Given the description of an element on the screen output the (x, y) to click on. 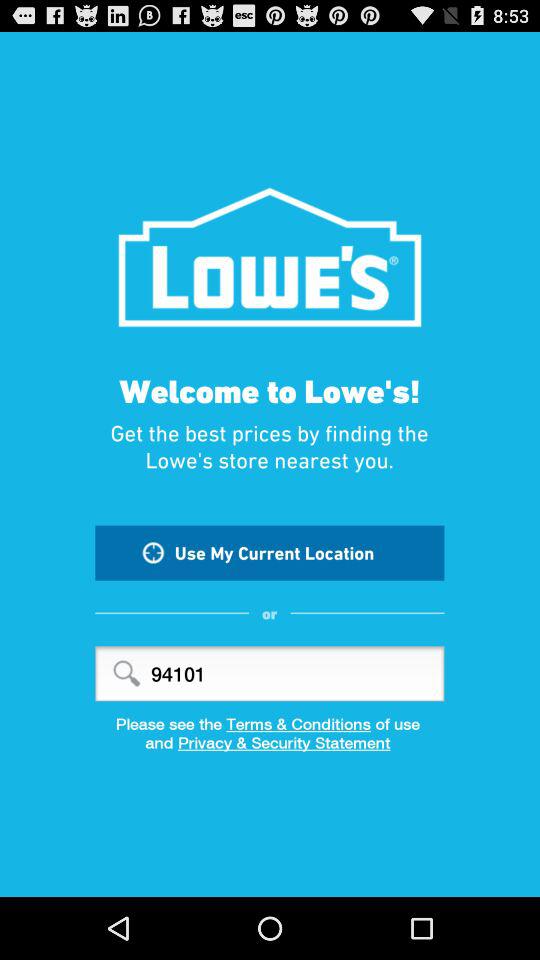
click the item below the 94101 icon (270, 723)
